Given the description of an element on the screen output the (x, y) to click on. 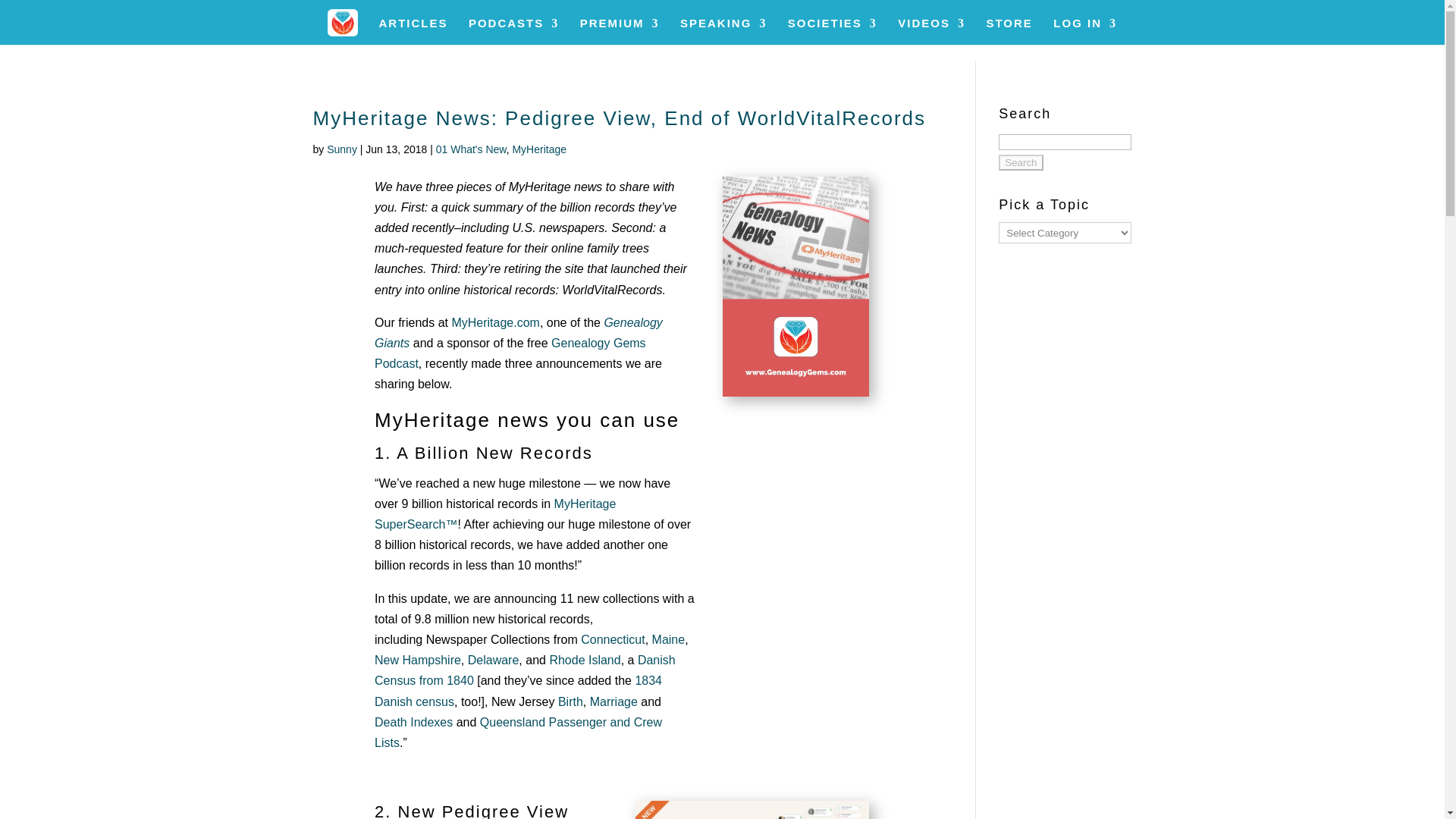
Watch free genealogy videos (931, 31)
Login (1115, 250)
Posts by Sunny (341, 149)
STORE (1008, 31)
LOG IN (1084, 31)
Search (1020, 162)
VIDEOS (931, 31)
PREMIUM (619, 31)
SPEAKING (723, 31)
SOCIETIES (832, 31)
